Given the description of an element on the screen output the (x, y) to click on. 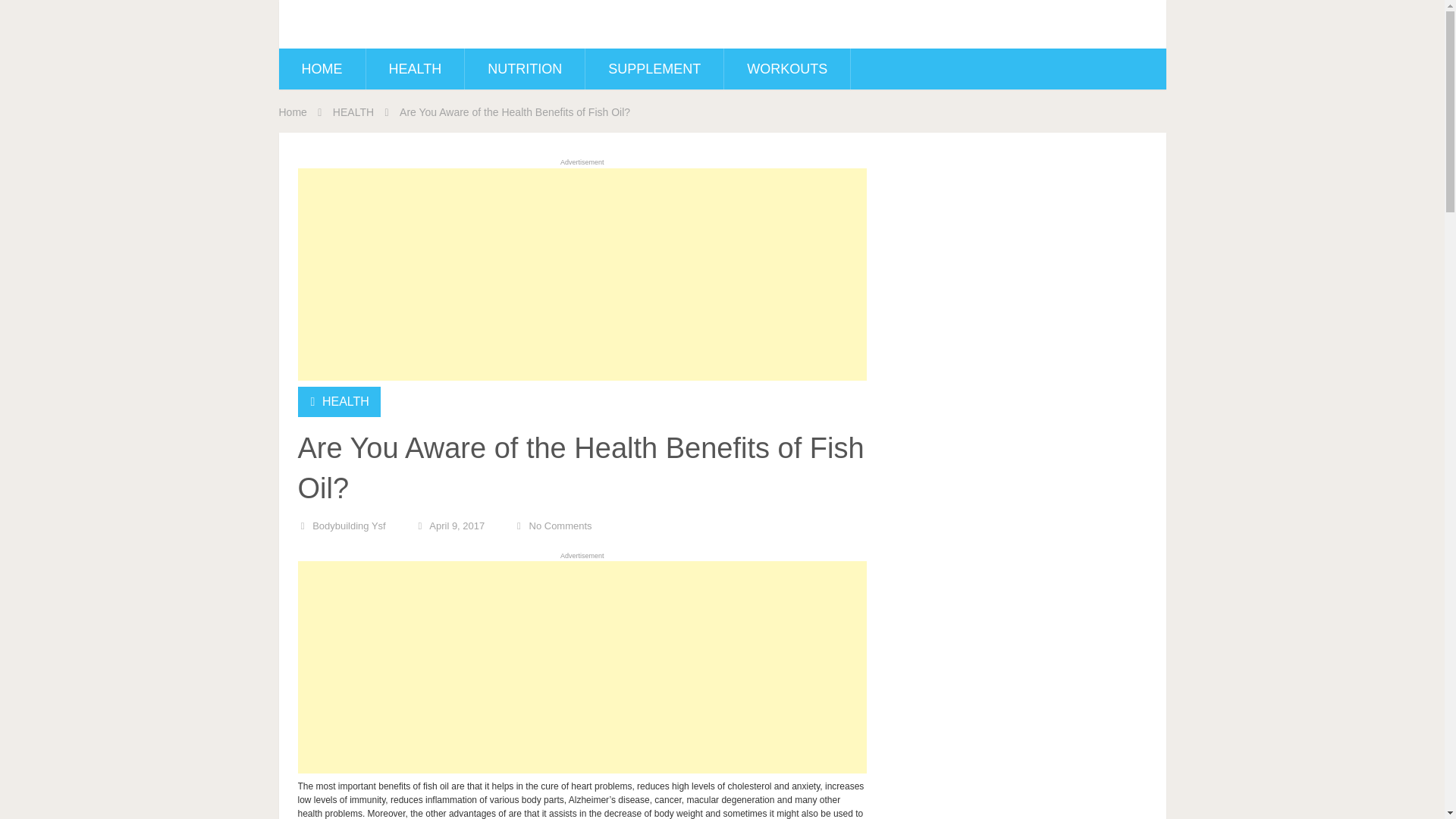
NUTRITION (524, 68)
HEALTH (353, 111)
Home (293, 111)
Bodybuilding Ysf (349, 525)
WORKOUTS (786, 68)
HEALTH (414, 68)
HOME (322, 68)
HEALTH (345, 400)
Posts by Bodybuilding Ysf (349, 525)
No Comments (560, 525)
